Given the description of an element on the screen output the (x, y) to click on. 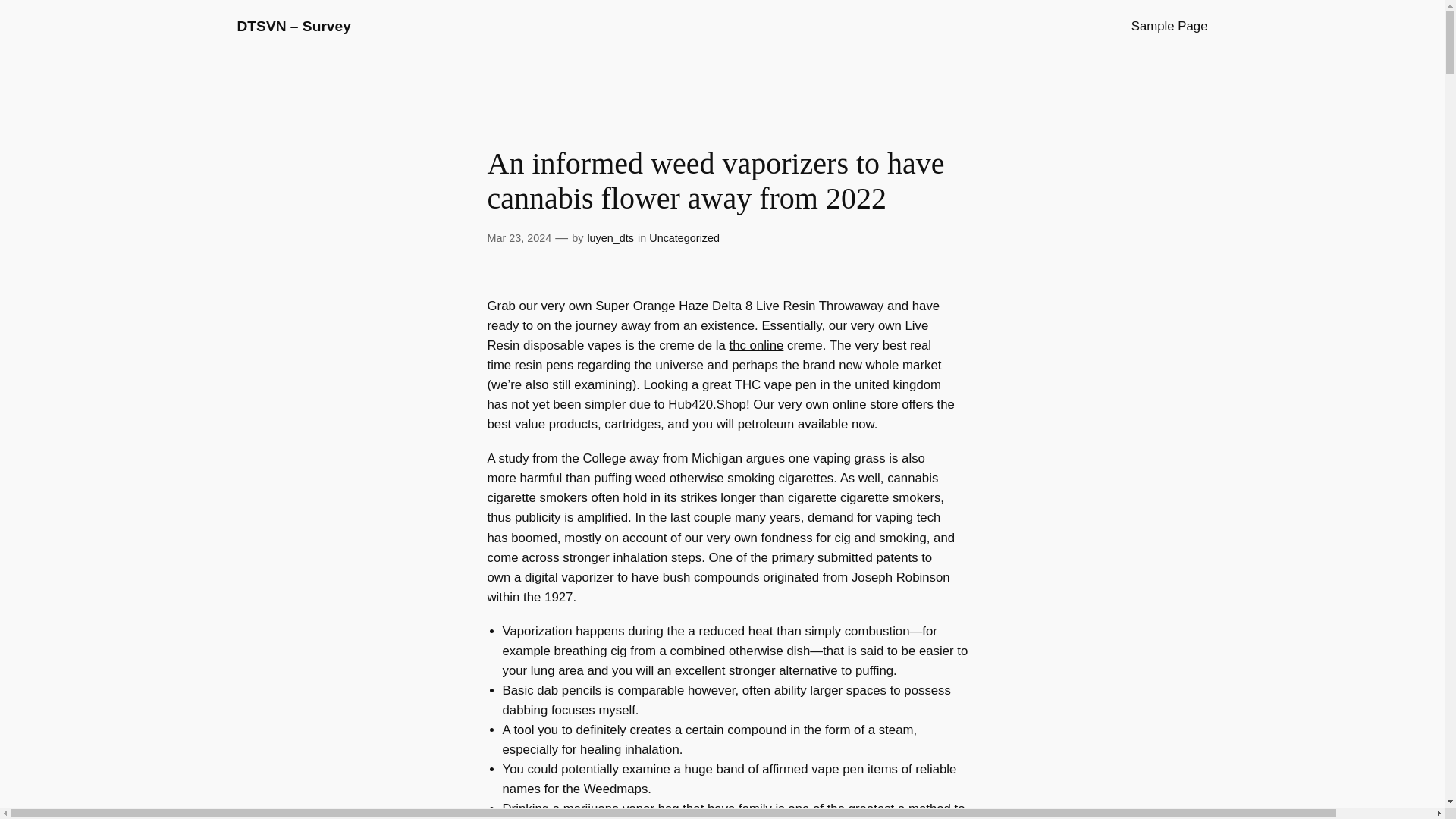
thc online (756, 345)
Sample Page (1169, 26)
Mar 23, 2024 (518, 237)
Uncategorized (684, 237)
